Given the description of an element on the screen output the (x, y) to click on. 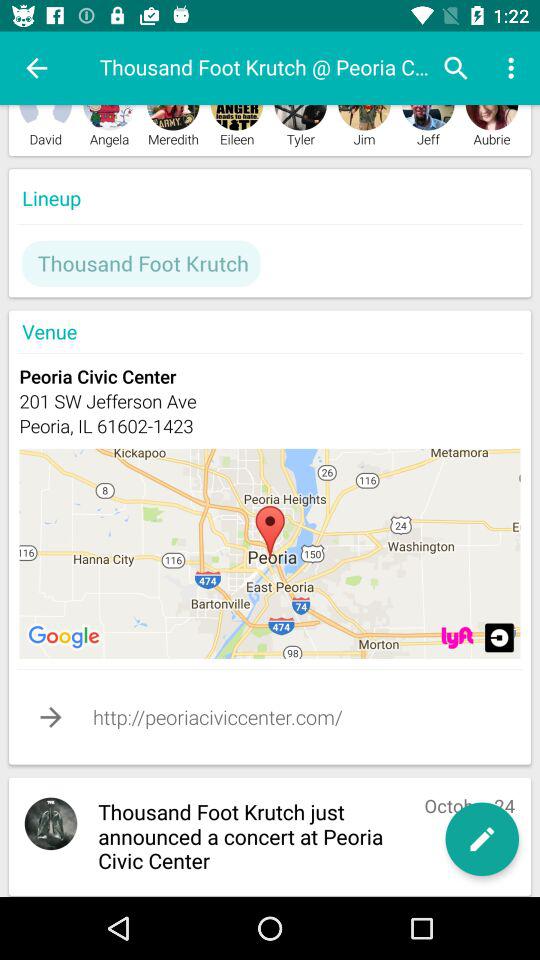
edit (482, 839)
